Given the description of an element on the screen output the (x, y) to click on. 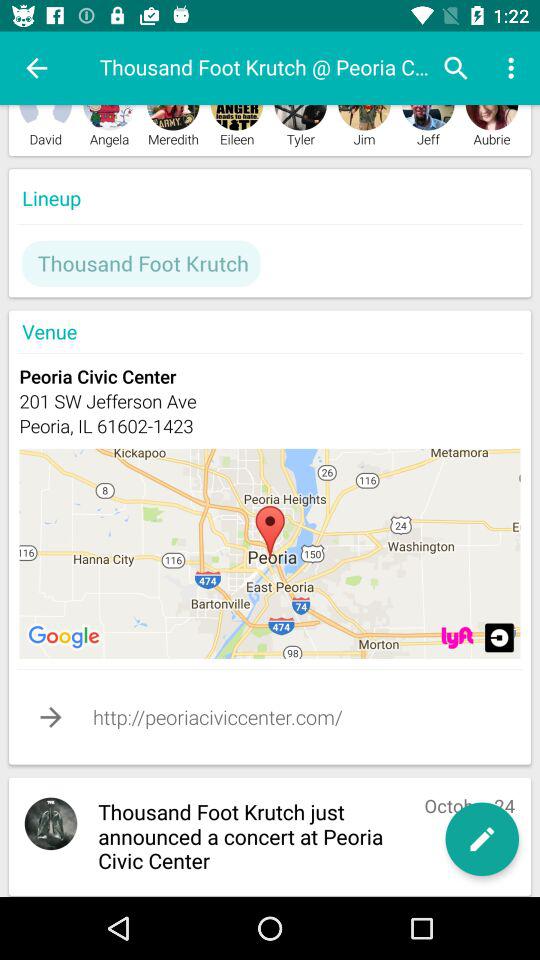
edit (482, 839)
